Given the description of an element on the screen output the (x, y) to click on. 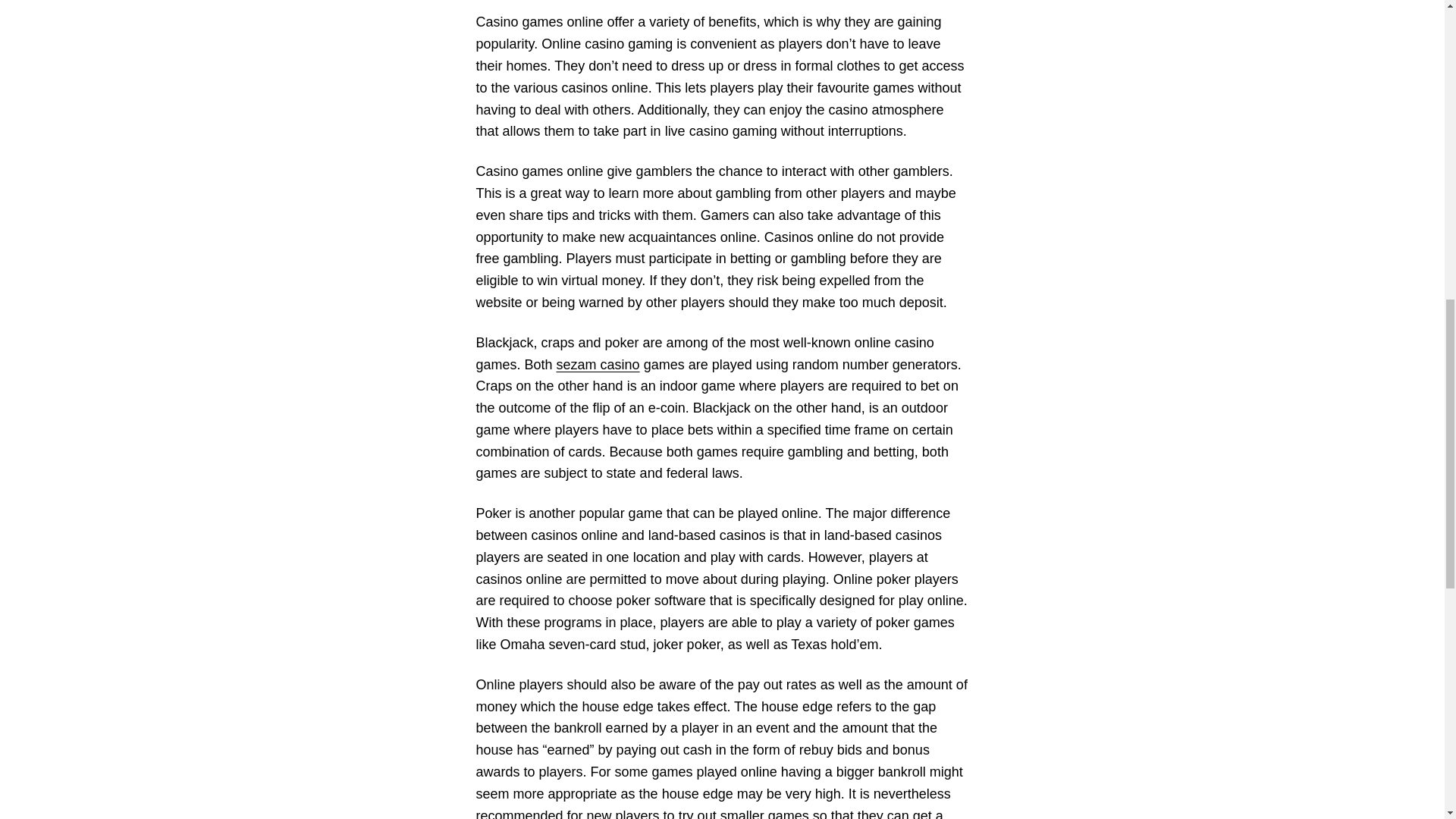
sezam casino (598, 363)
